Given the description of an element on the screen output the (x, y) to click on. 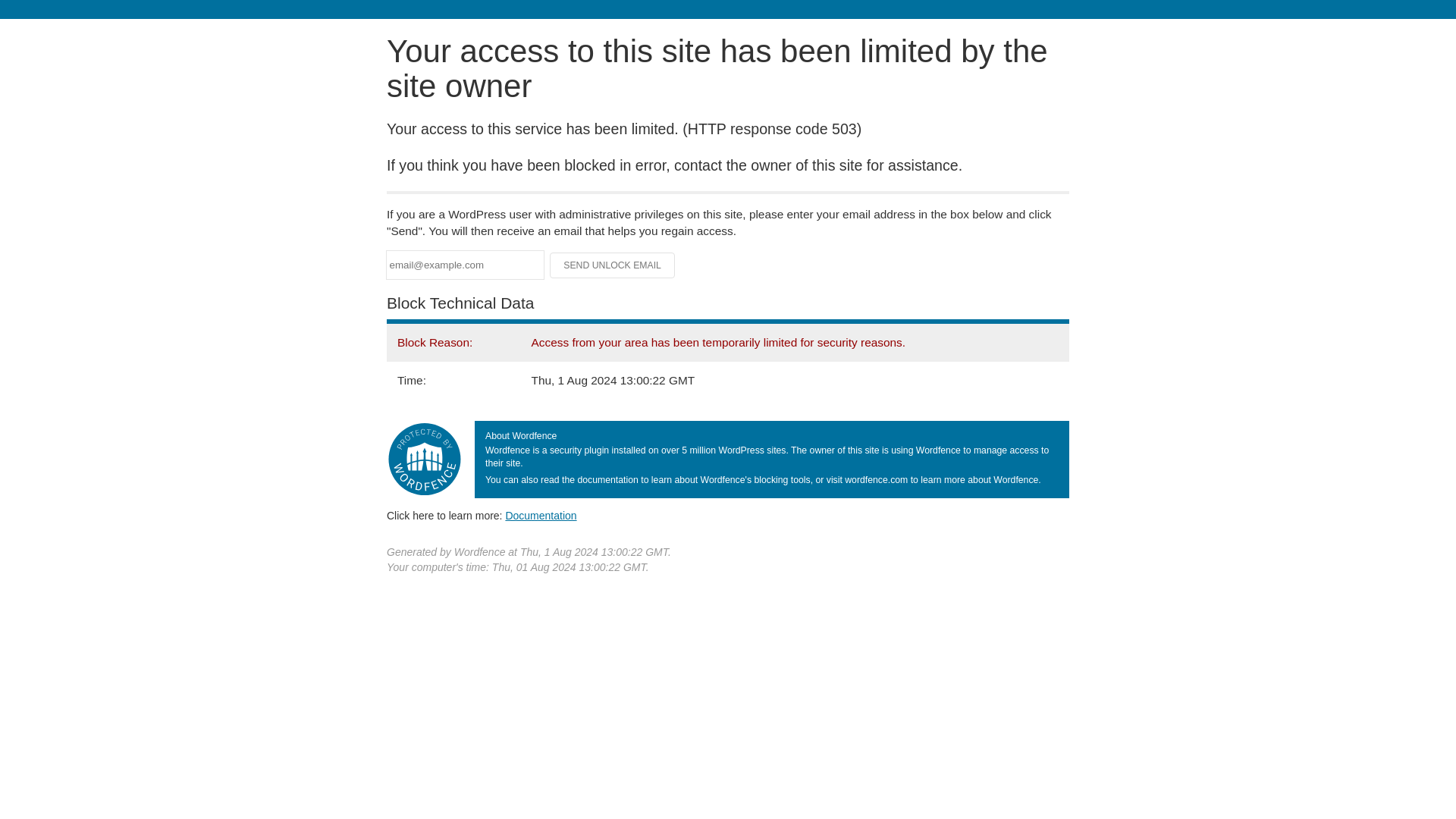
Send Unlock Email (612, 265)
Documentation (540, 515)
Send Unlock Email (612, 265)
